Given the description of an element on the screen output the (x, y) to click on. 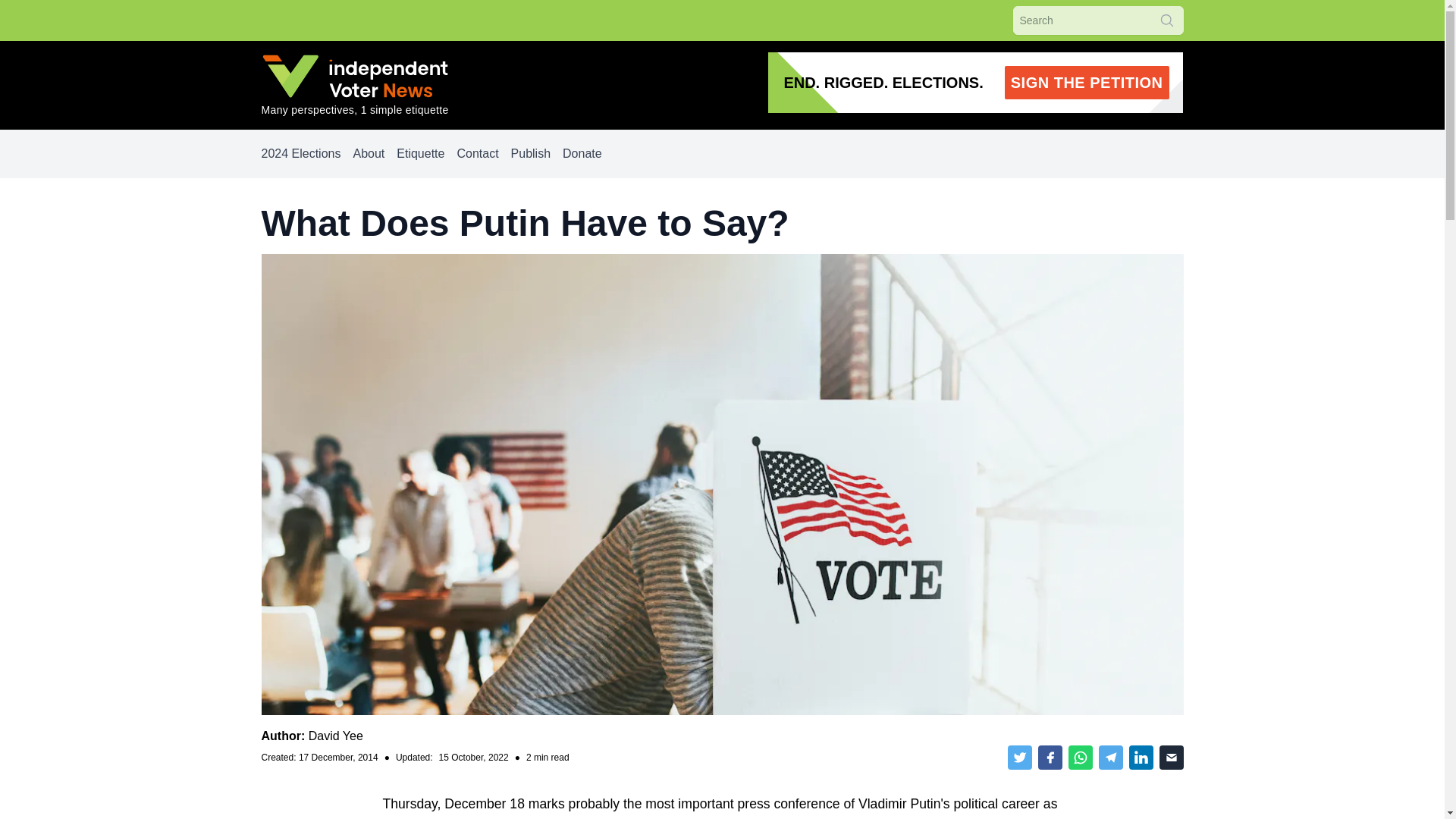
Publish (530, 153)
Donate (582, 153)
2024 Elections (975, 82)
David Yee (300, 153)
Contact (335, 735)
About (477, 153)
Etiquette (368, 153)
